Given the description of an element on the screen output the (x, y) to click on. 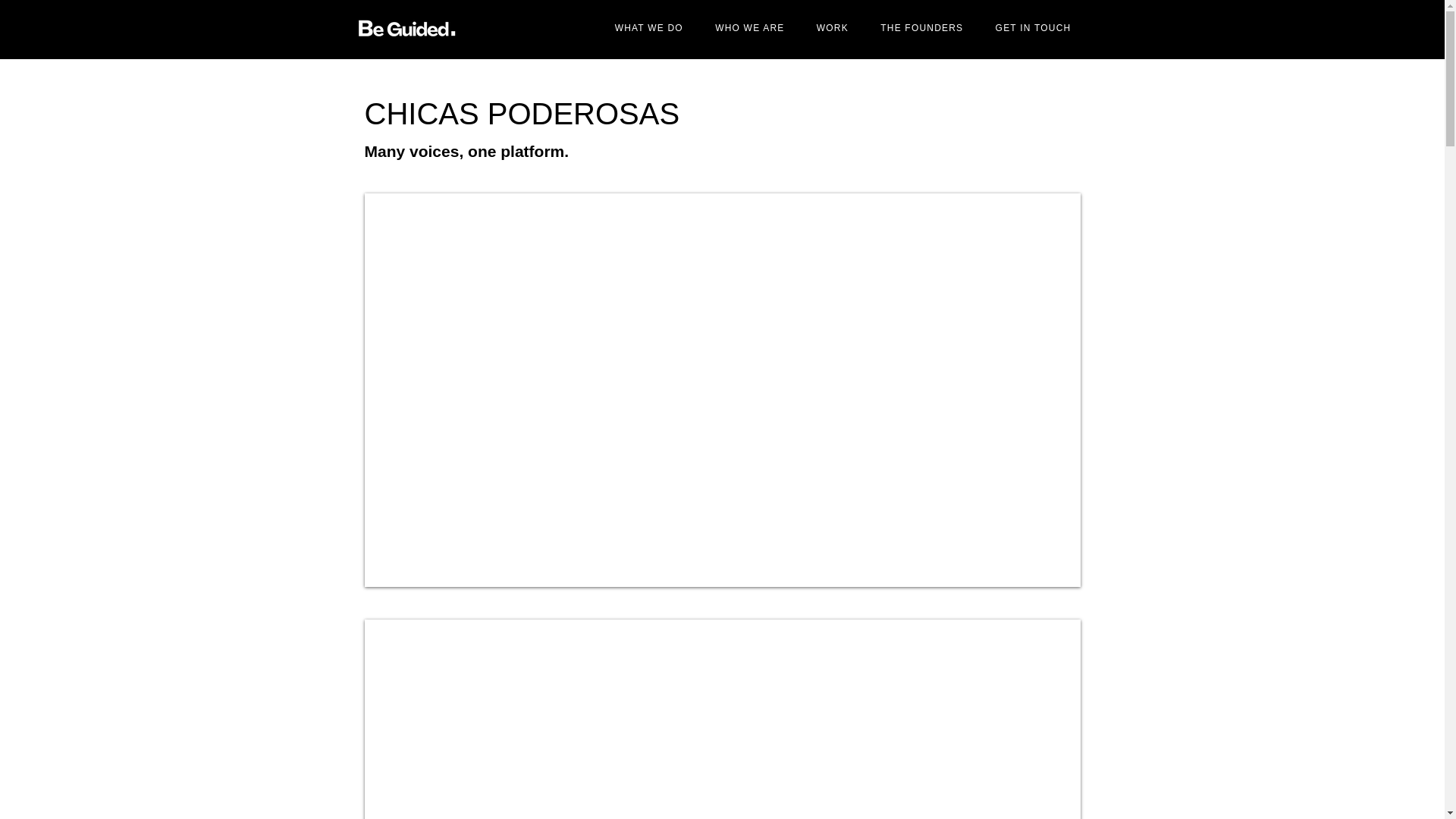
CHICAS PODEROSAS (521, 113)
WHAT WE DO (649, 28)
WORK (832, 28)
GET IN TOUCH (1032, 28)
THE FOUNDERS (921, 28)
WHO WE ARE (749, 28)
